Given the description of an element on the screen output the (x, y) to click on. 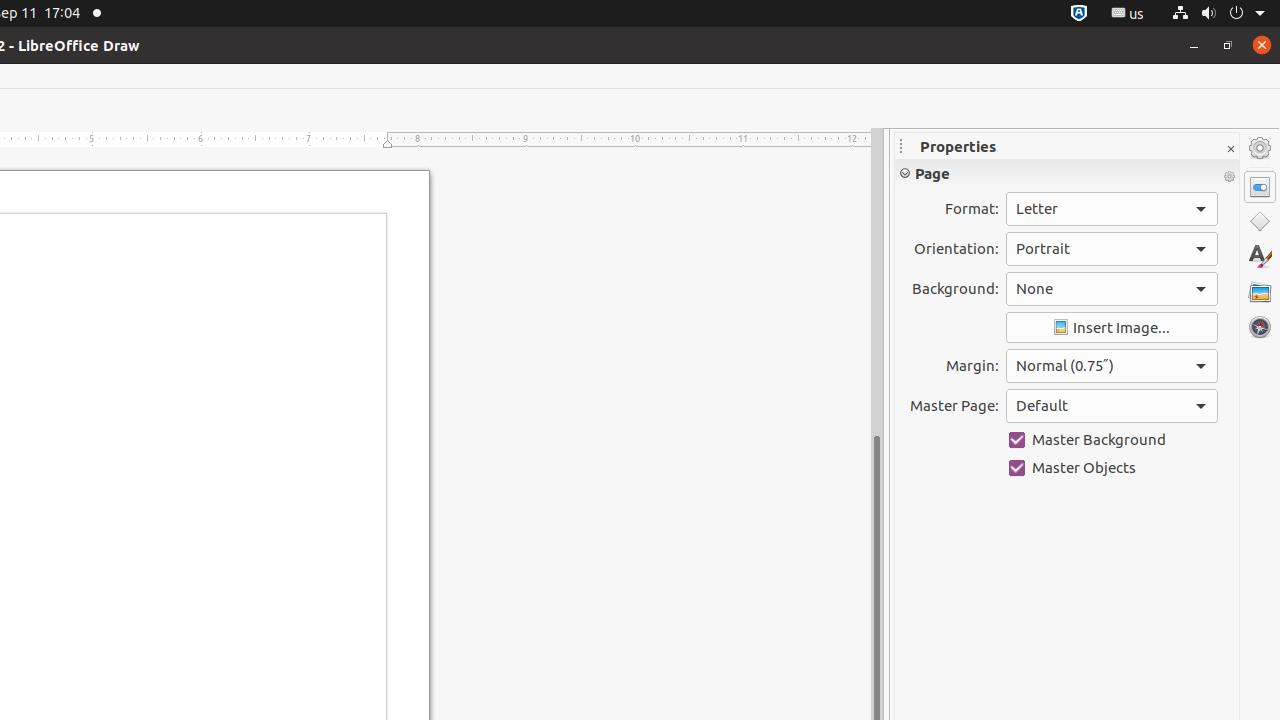
Format: Element type: combo-box (1112, 209)
Margin: Element type: combo-box (1112, 366)
Properties Element type: radio-button (1260, 187)
